Given the description of an element on the screen output the (x, y) to click on. 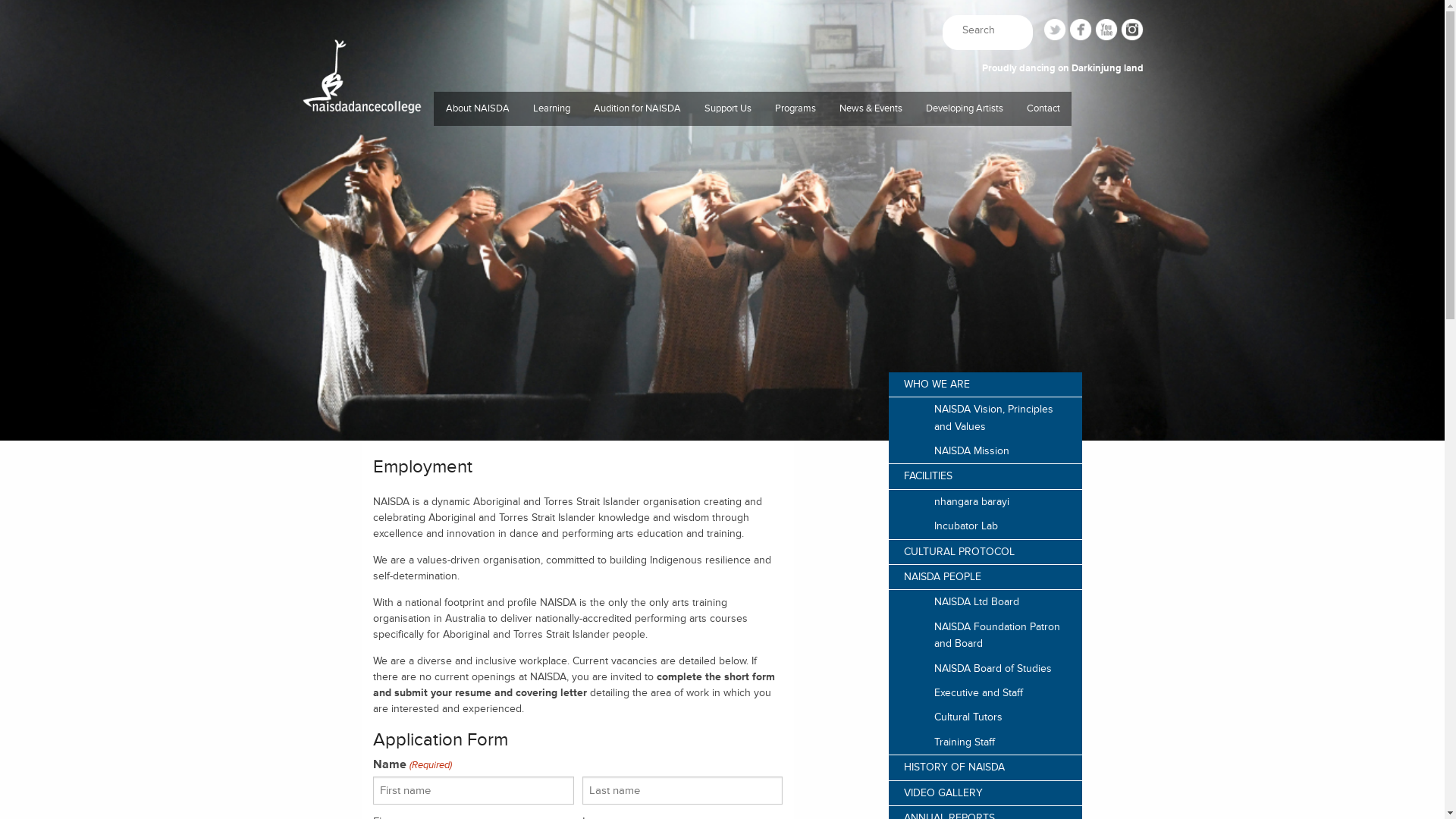
WHO WE ARE Element type: text (985, 384)
History of NAISDA Element type: text (477, 262)
Bequests Element type: text (727, 322)
Learning Element type: text (551, 108)
Other Ways to Show your Support Element type: text (727, 444)
FACILITIES Element type: text (985, 476)
Meet Our Developing and Practising Artists Element type: text (964, 140)
Graduation Element type: text (551, 231)
Facebook Element type: text (1080, 29)
Songlines Appeal Element type: text (727, 201)
Contact Element type: text (1043, 108)
Internships Element type: text (551, 292)
In the News Element type: text (870, 171)
Expenses and Subsidised Costs Element type: text (551, 171)
nhangara barayi Element type: text (985, 501)
Cultural Tutors Element type: text (985, 717)
Support NAISDA Element type: text (727, 140)
Developing Artists Element type: text (964, 108)
Cultural Residencies Element type: text (795, 171)
NAISDA Dance College Element type: hover (361, 129)
Outreach Programs Element type: text (795, 201)
Audition for NAISDA Element type: text (637, 108)
Productions Element type: text (795, 140)
Alumni Element type: text (964, 171)
Twitter Element type: text (1054, 29)
Annual Reports Element type: text (477, 322)
Vision: The Way Ahead Element type: text (727, 413)
NAISDA People Element type: text (477, 231)
NAISDA Foundation Patron and Board Element type: text (985, 635)
Term Dates Element type: text (870, 231)
Become a Homestay Family Element type: text (477, 383)
Incubator Lab Element type: text (985, 526)
Executive and Staff Element type: text (985, 692)
Who We Are Element type: text (477, 140)
NAISDA Mission Element type: text (985, 451)
Support Us Element type: text (727, 108)
Life at NAISDA Element type: text (637, 171)
Course Information Element type: text (637, 231)
ARTS8 Training Organisations Element type: text (477, 353)
Instagram Element type: text (1131, 29)
Programs Element type: text (795, 108)
Facilities Element type: text (477, 171)
About NAISDA Element type: text (477, 108)
Training Staff Element type: text (985, 742)
Support Services Element type: text (551, 201)
Training At NAISDA Element type: text (551, 140)
NAISDA Foundation Trust Element type: text (727, 353)
youtube Element type: text (1106, 29)
NAISDA Vision, Principles and Values Element type: text (985, 418)
Video Gallery Element type: text (477, 292)
Contact Element type: text (1043, 140)
Subscribe to NAISDA Element type: text (1043, 171)
Our Supporters Element type: text (727, 292)
VIDEO GALLERY Element type: text (985, 793)
NAISDA Ltd Board Element type: text (985, 601)
CULTURAL PROTOCOL Element type: text (985, 551)
HISTORY OF NAISDA Element type: text (985, 767)
Cultural Protocol Element type: text (477, 201)
Corporate Partnerships Element type: text (727, 262)
Subscribe to our Auditions Mailing List Element type: text (637, 262)
Resources Hub Element type: text (637, 201)
Apply to NAISDA Element type: text (637, 140)
NAISDA Board of Studies Element type: text (985, 668)
Donate Element type: text (727, 171)
Trusts and Foundations Element type: text (727, 231)
Scholarships Element type: text (551, 262)
Employment Element type: text (477, 413)
ATI Element type: text (870, 140)
NAISDA PEOPLE Element type: text (985, 576)
News & Events Element type: text (870, 108)
